Given the description of an element on the screen output the (x, y) to click on. 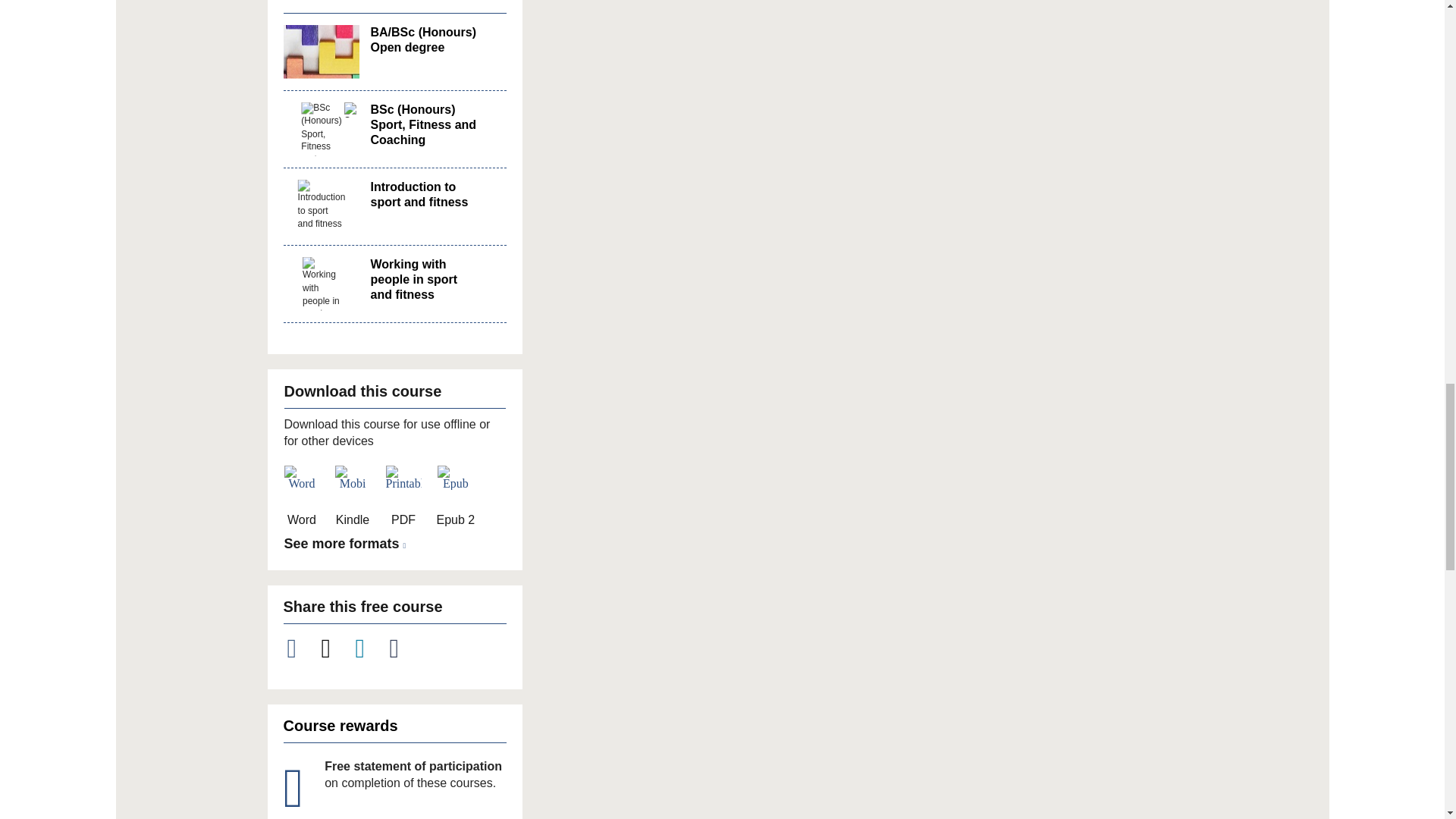
See more formats (347, 543)
Share via Email (403, 648)
Share on Facebook (299, 648)
Share on LinkedIn (368, 648)
Share on Twitter (334, 648)
